Given the description of an element on the screen output the (x, y) to click on. 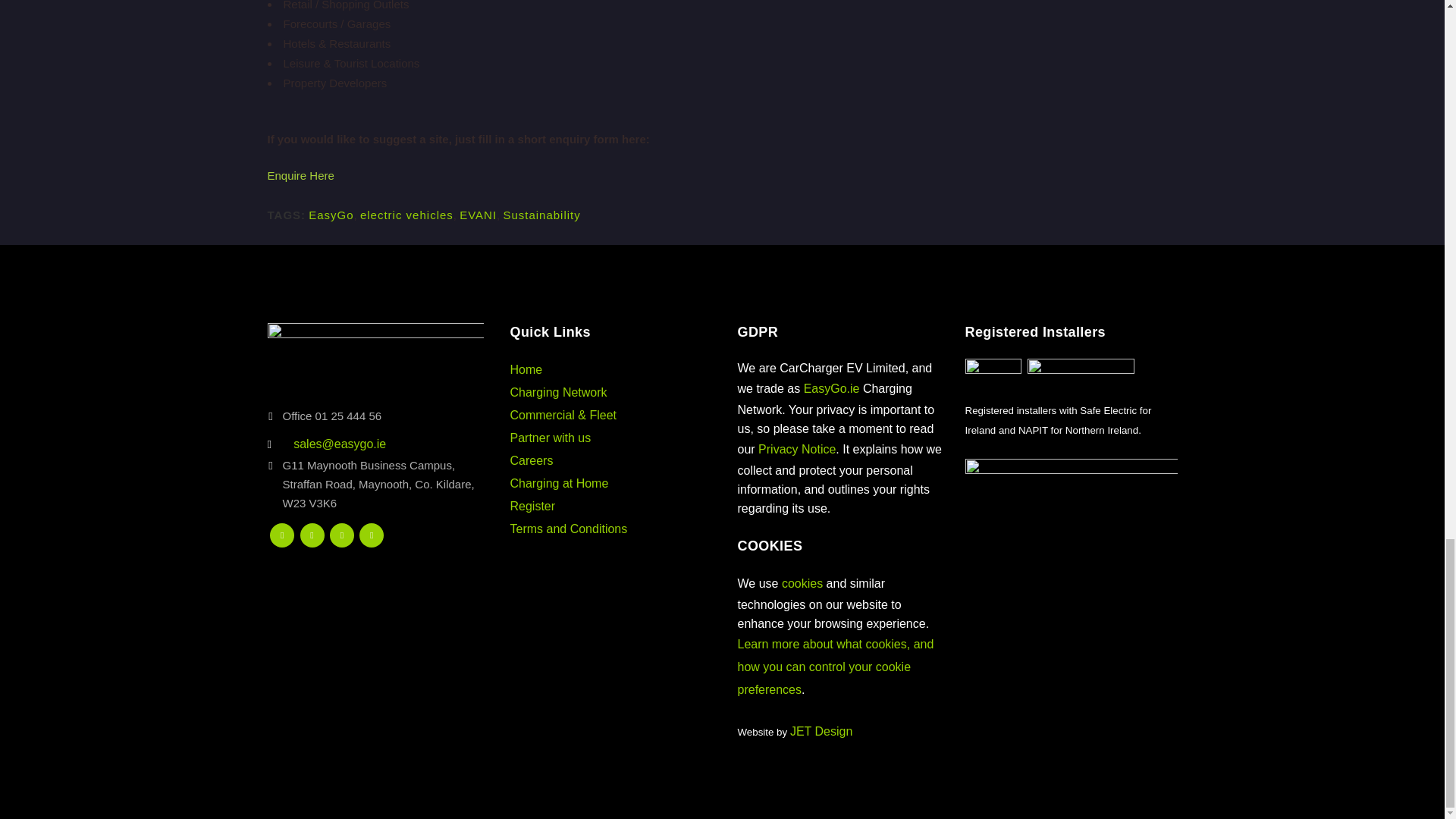
Partner with us (550, 437)
Enquire Here (299, 174)
Sustainability (540, 214)
EasyGo (330, 214)
Charging Network (558, 391)
electric vehicles (405, 214)
EVANI (478, 214)
Home (525, 369)
